Given the description of an element on the screen output the (x, y) to click on. 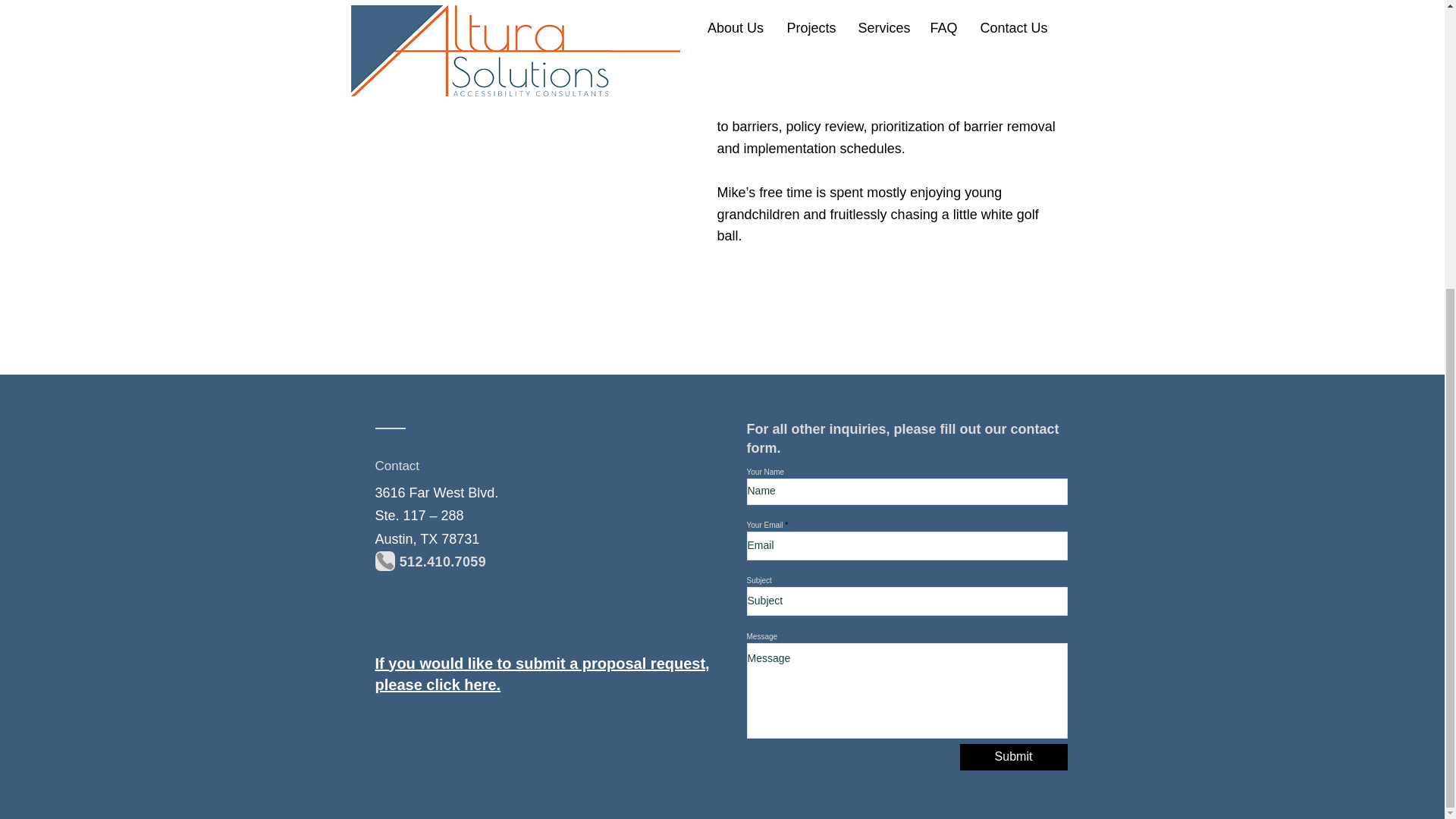
Submit (1013, 756)
